Given the description of an element on the screen output the (x, y) to click on. 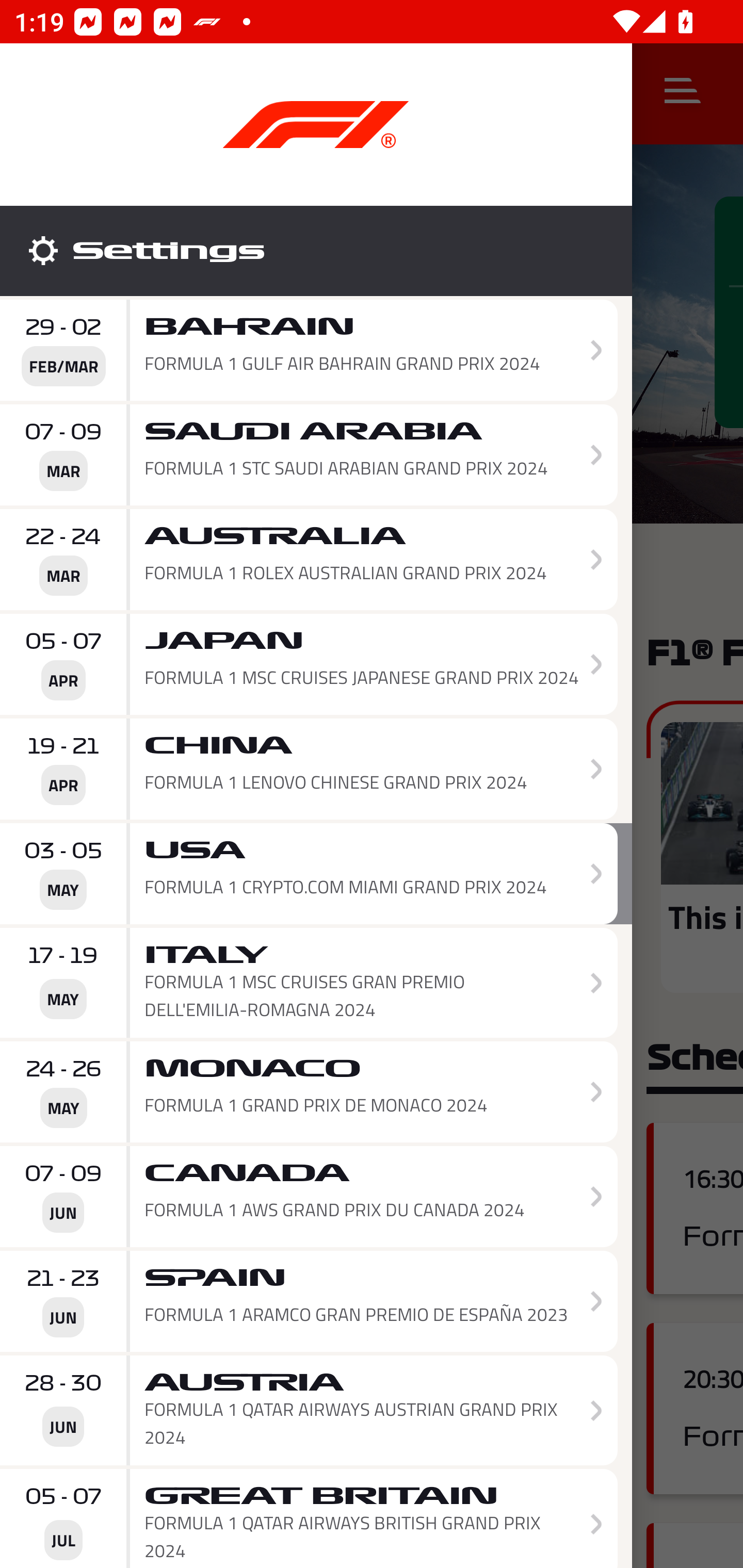
Settings (316, 250)
